Given the description of an element on the screen output the (x, y) to click on. 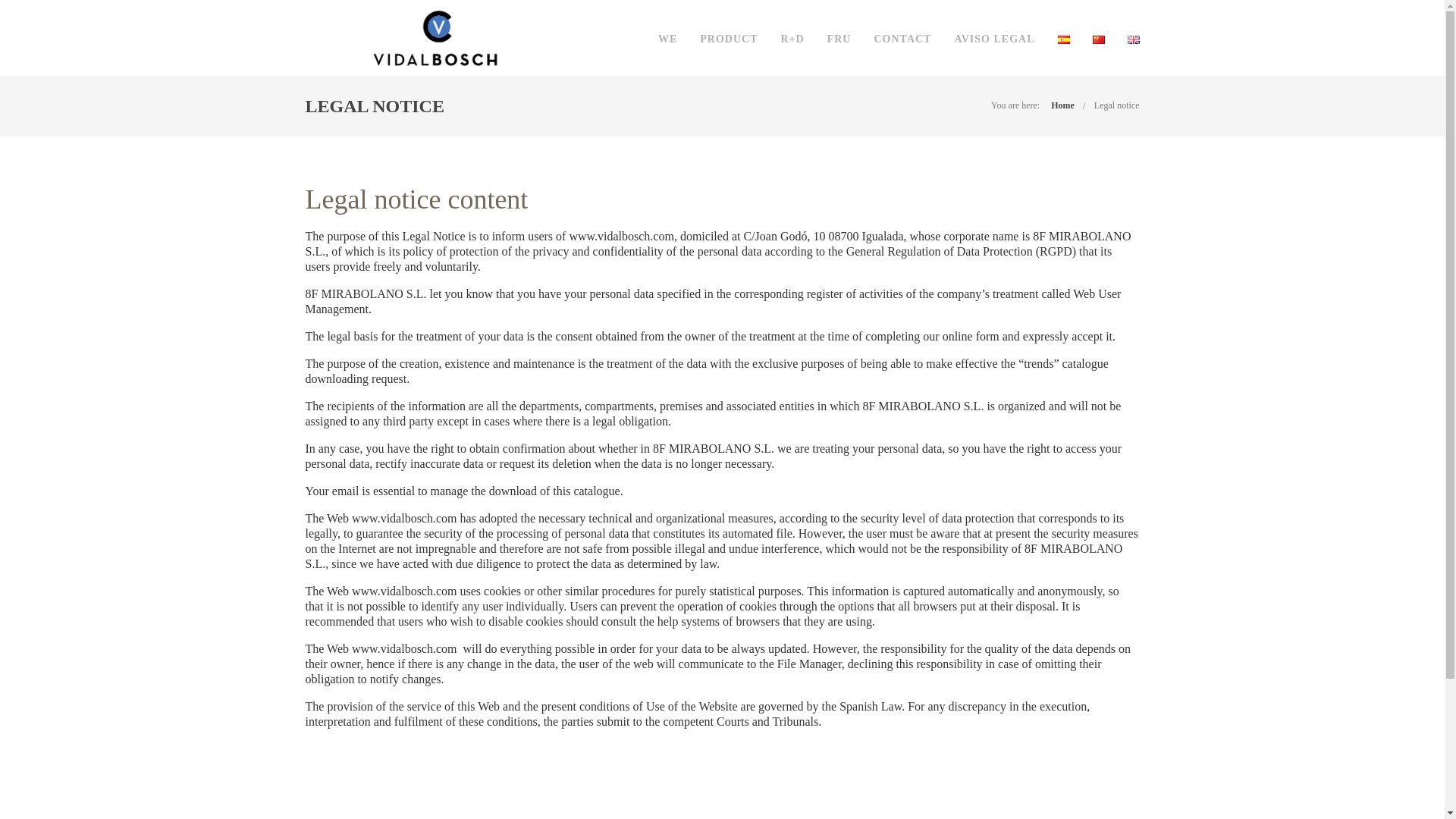
CONTACT (902, 38)
FRU (839, 38)
PRODUCT (728, 38)
AVISO LEGAL (993, 38)
Home (1062, 104)
Legal notice (1117, 104)
WE (667, 38)
